Given the description of an element on the screen output the (x, y) to click on. 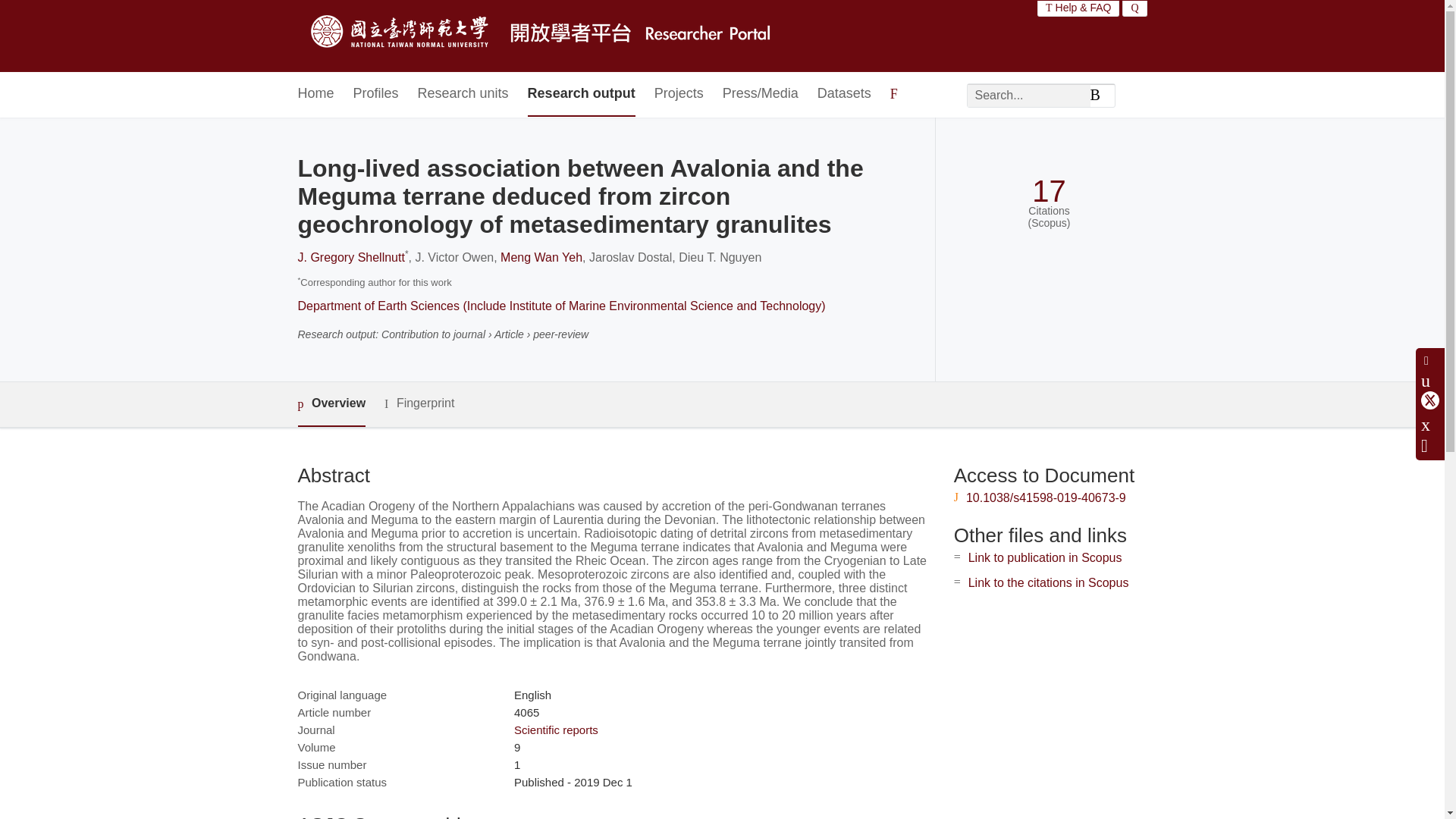
Link to the citations in Scopus (1048, 582)
Datasets (843, 94)
Fingerprint (419, 403)
Meng Wan Yeh (541, 256)
Projects (678, 94)
Link to publication in Scopus (1045, 557)
Research output (580, 94)
Overview (331, 404)
17 (1048, 191)
